Given the description of an element on the screen output the (x, y) to click on. 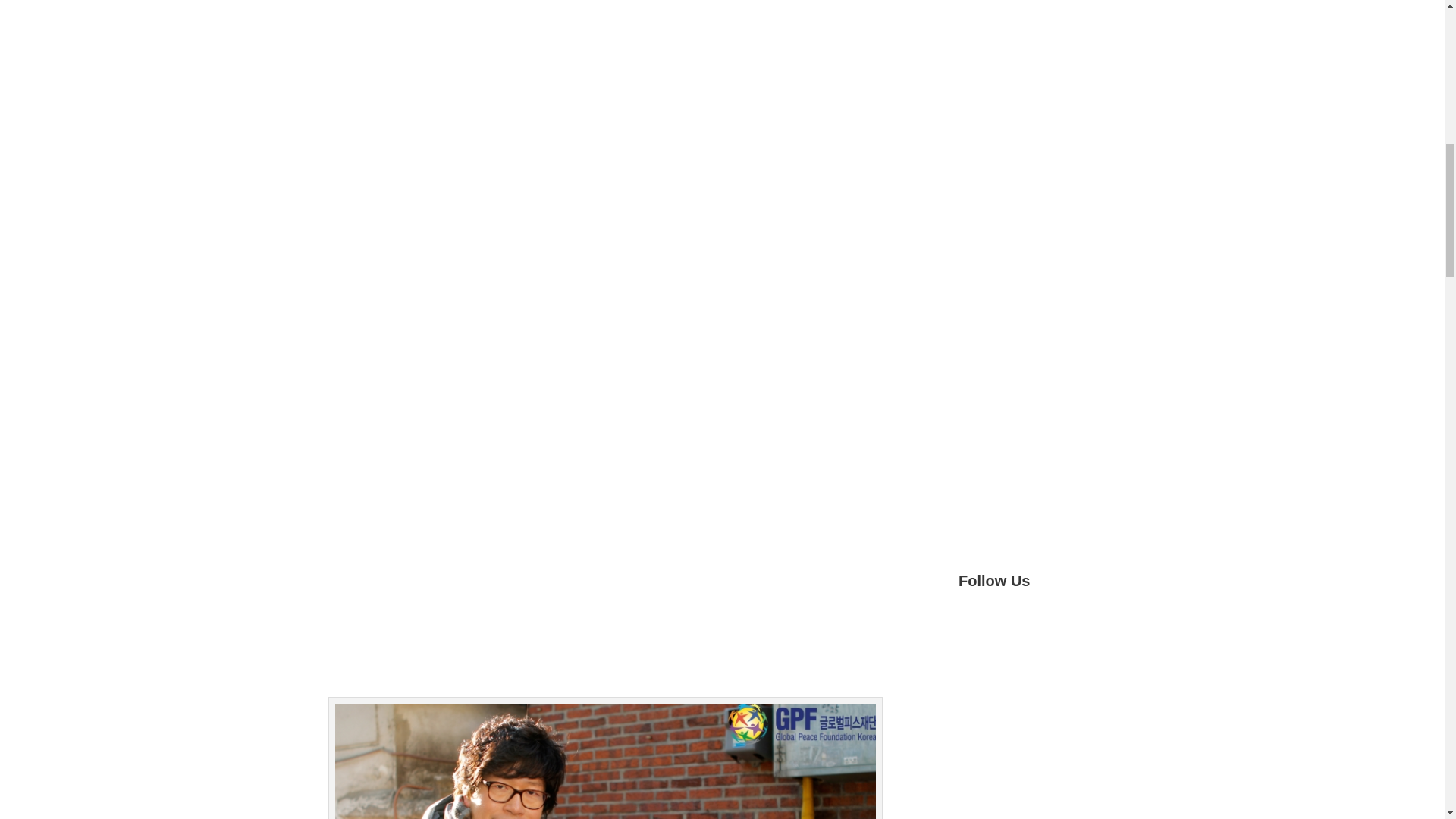
Follow on Instagram (1061, 631)
Follow on X (1000, 631)
Follow on LinkedIn (1091, 631)
Follow on Facebook (970, 631)
Follow on Youtube (1031, 631)
